Given the description of an element on the screen output the (x, y) to click on. 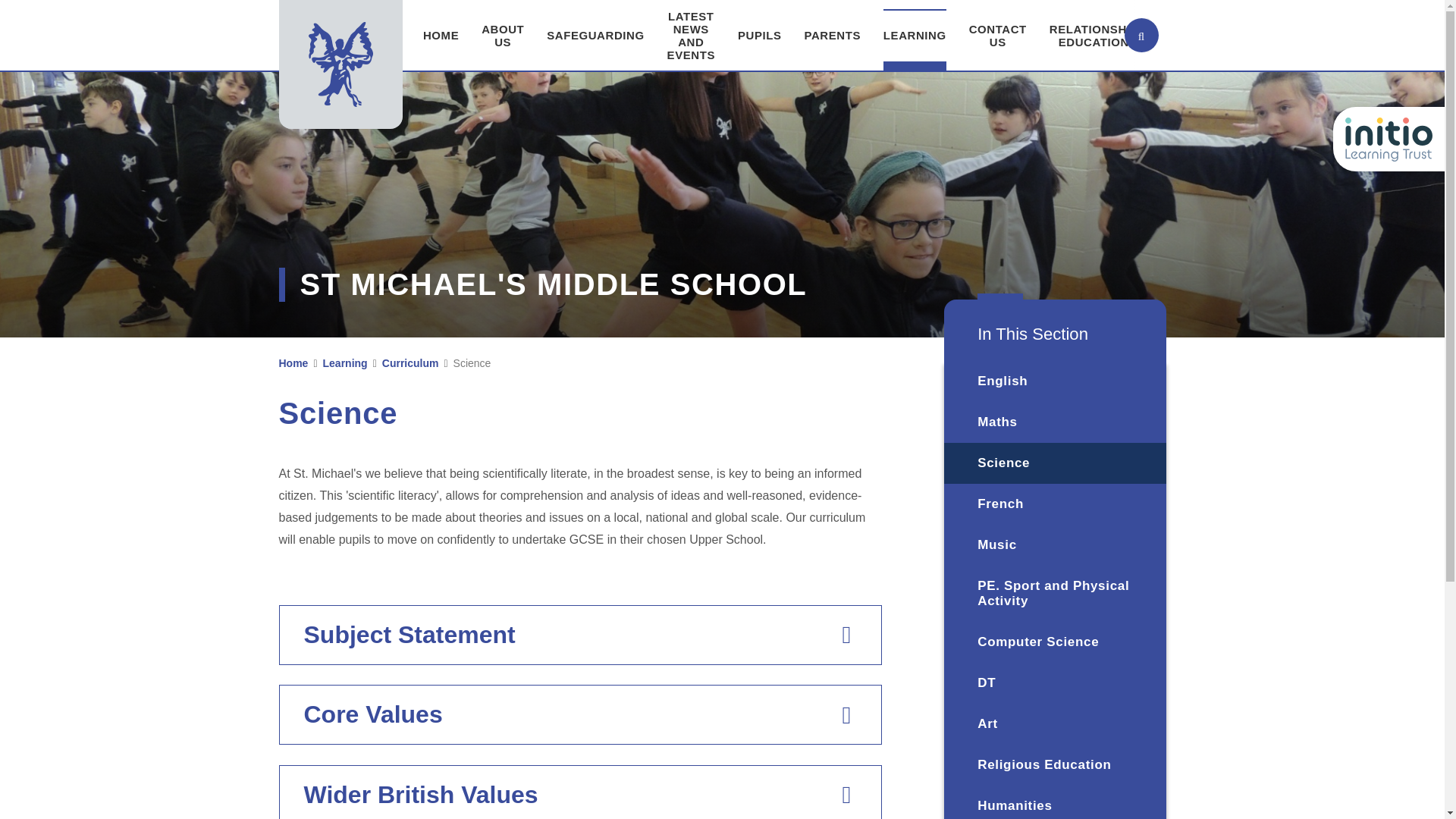
ABOUT US (502, 35)
